Given the description of an element on the screen output the (x, y) to click on. 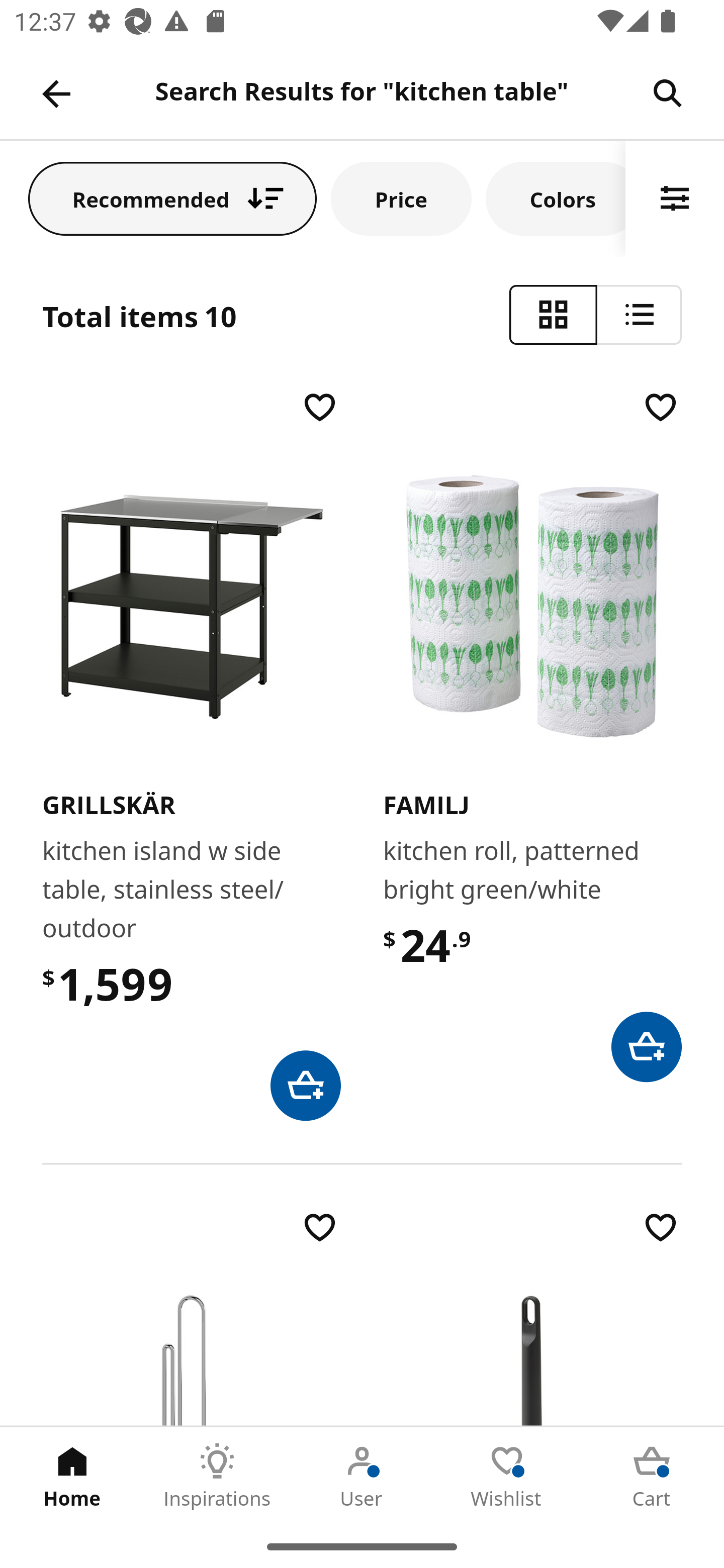
Recommended (172, 198)
Price (400, 198)
Colors (555, 198)
Home
Tab 1 of 5 (72, 1476)
Inspirations
Tab 2 of 5 (216, 1476)
User
Tab 3 of 5 (361, 1476)
Wishlist
Tab 4 of 5 (506, 1476)
Cart
Tab 5 of 5 (651, 1476)
